Given the description of an element on the screen output the (x, y) to click on. 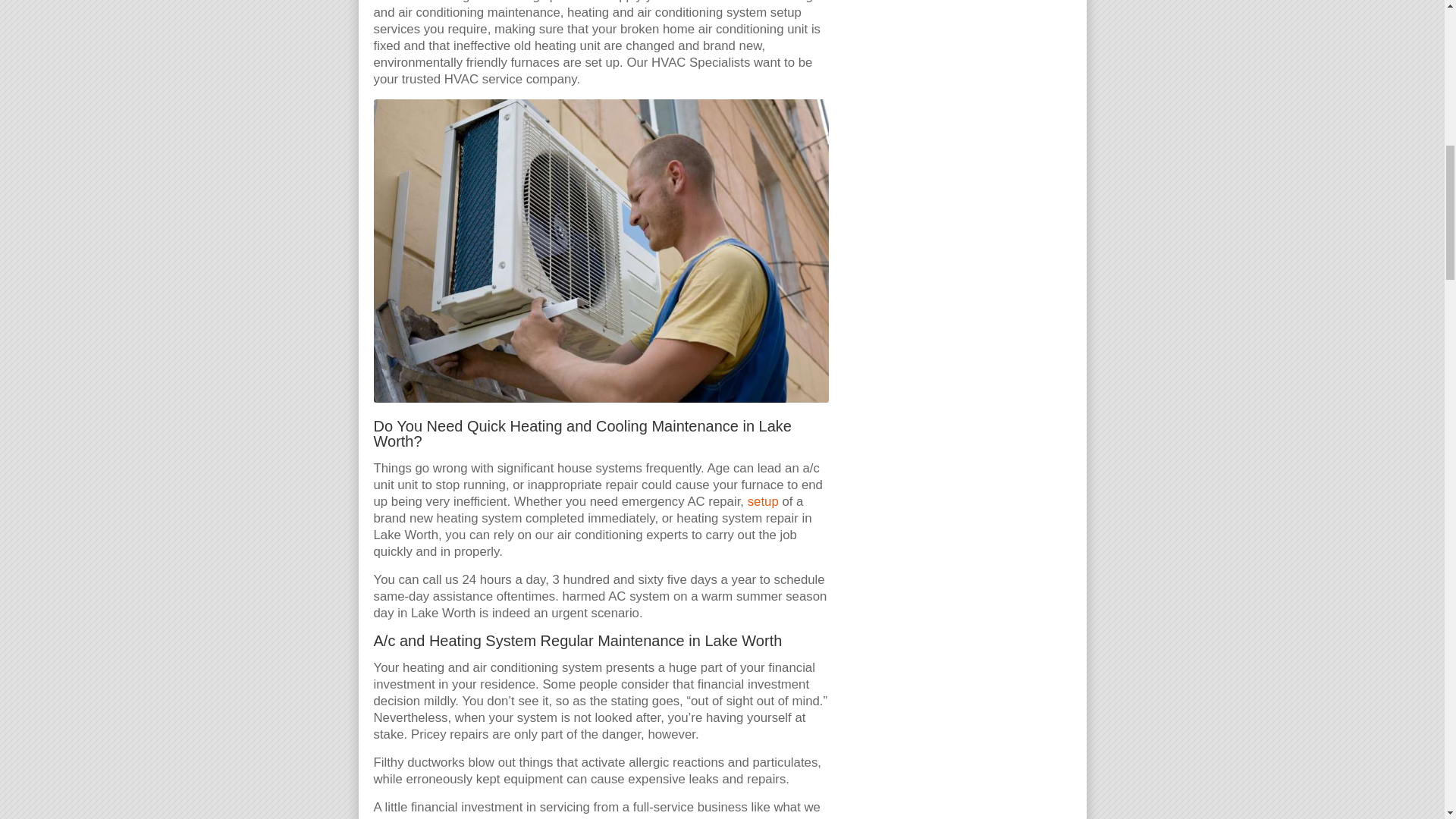
setup (763, 501)
